Given the description of an element on the screen output the (x, y) to click on. 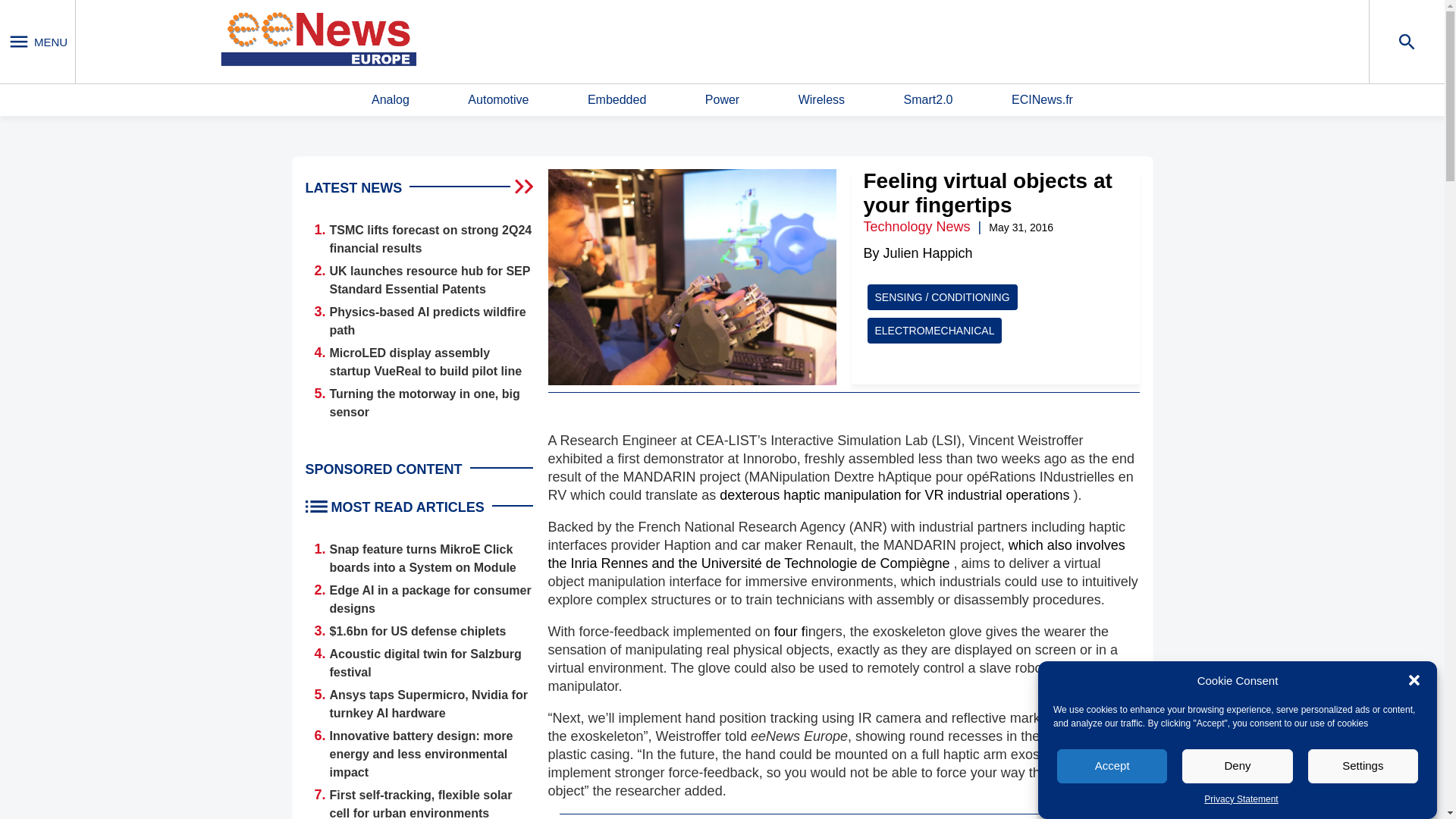
Automotive (497, 99)
Power (721, 99)
ECINews.fr (1042, 99)
Analog (390, 99)
Embedded (617, 99)
Wireless (820, 99)
Smart2.0 (928, 99)
